Given the description of an element on the screen output the (x, y) to click on. 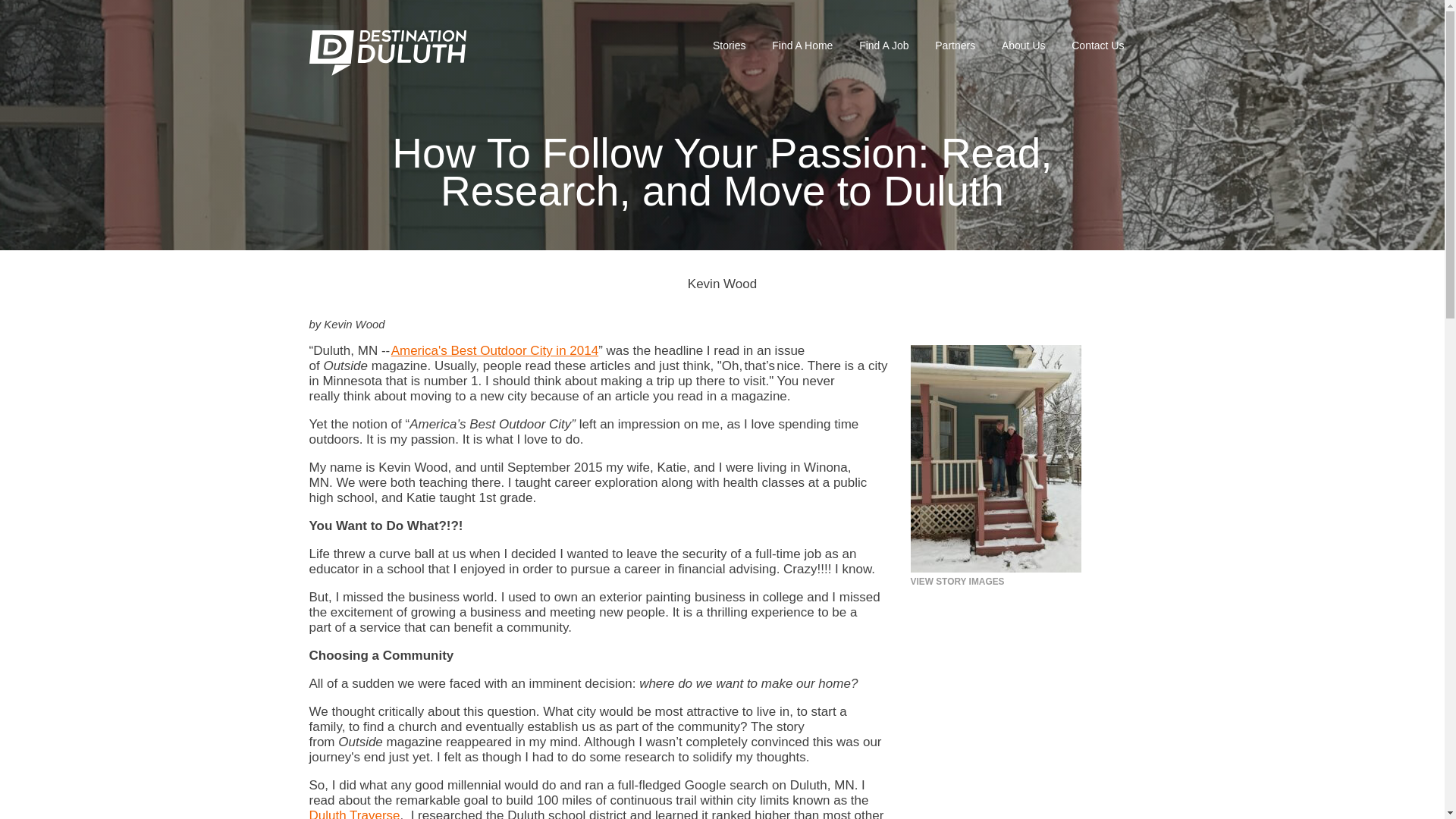
Find A Home (802, 45)
Partners (955, 45)
America's Best Outdoor City in 2014 (494, 350)
Contact Us (1097, 45)
About Us (1023, 45)
Stories (729, 45)
Find A Job (883, 45)
Duluth Traverse (354, 813)
